Given the description of an element on the screen output the (x, y) to click on. 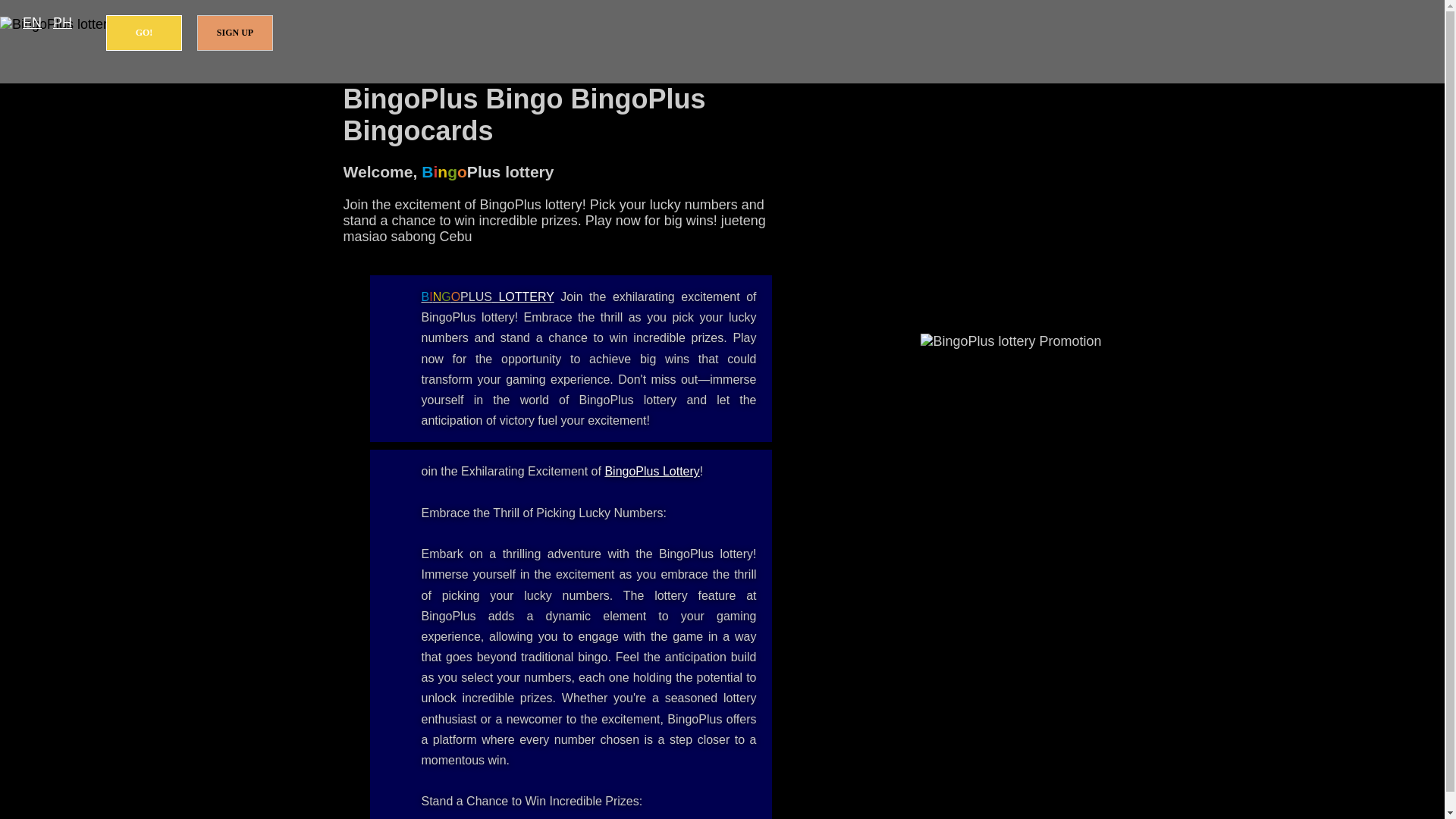
GO! (144, 32)
EN (32, 23)
BingoPlus Lottery (651, 471)
Pilipinas - Filipino (61, 23)
SIGN UP (234, 32)
BINGOPLUS LOTTERY (488, 296)
PH (61, 23)
BingoPlus lottery (488, 296)
BingoPlus Lottery - BingoPlus lottery (651, 471)
English - Filipino (32, 23)
